Given the description of an element on the screen output the (x, y) to click on. 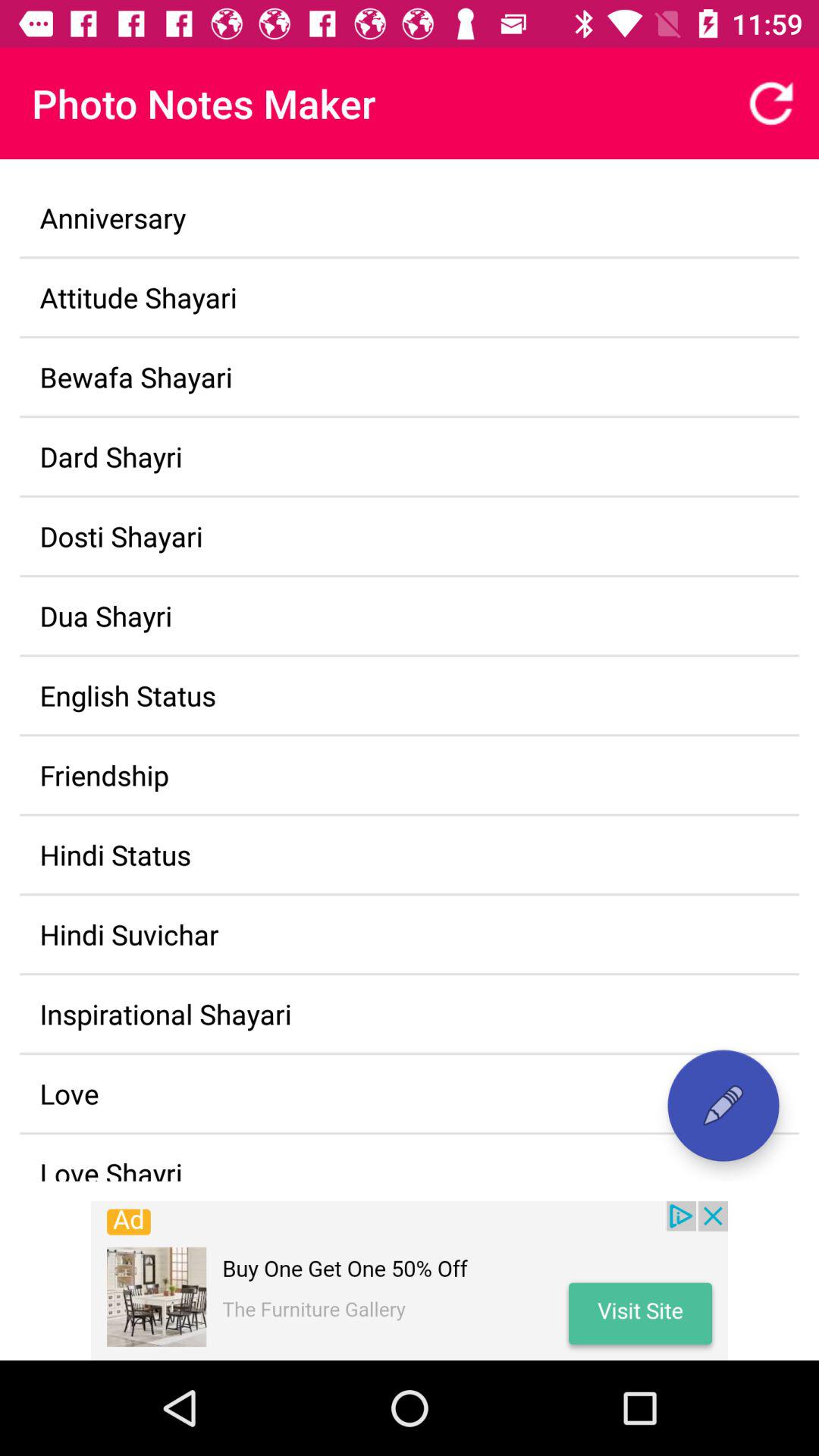
compose new note (723, 1105)
